Given the description of an element on the screen output the (x, y) to click on. 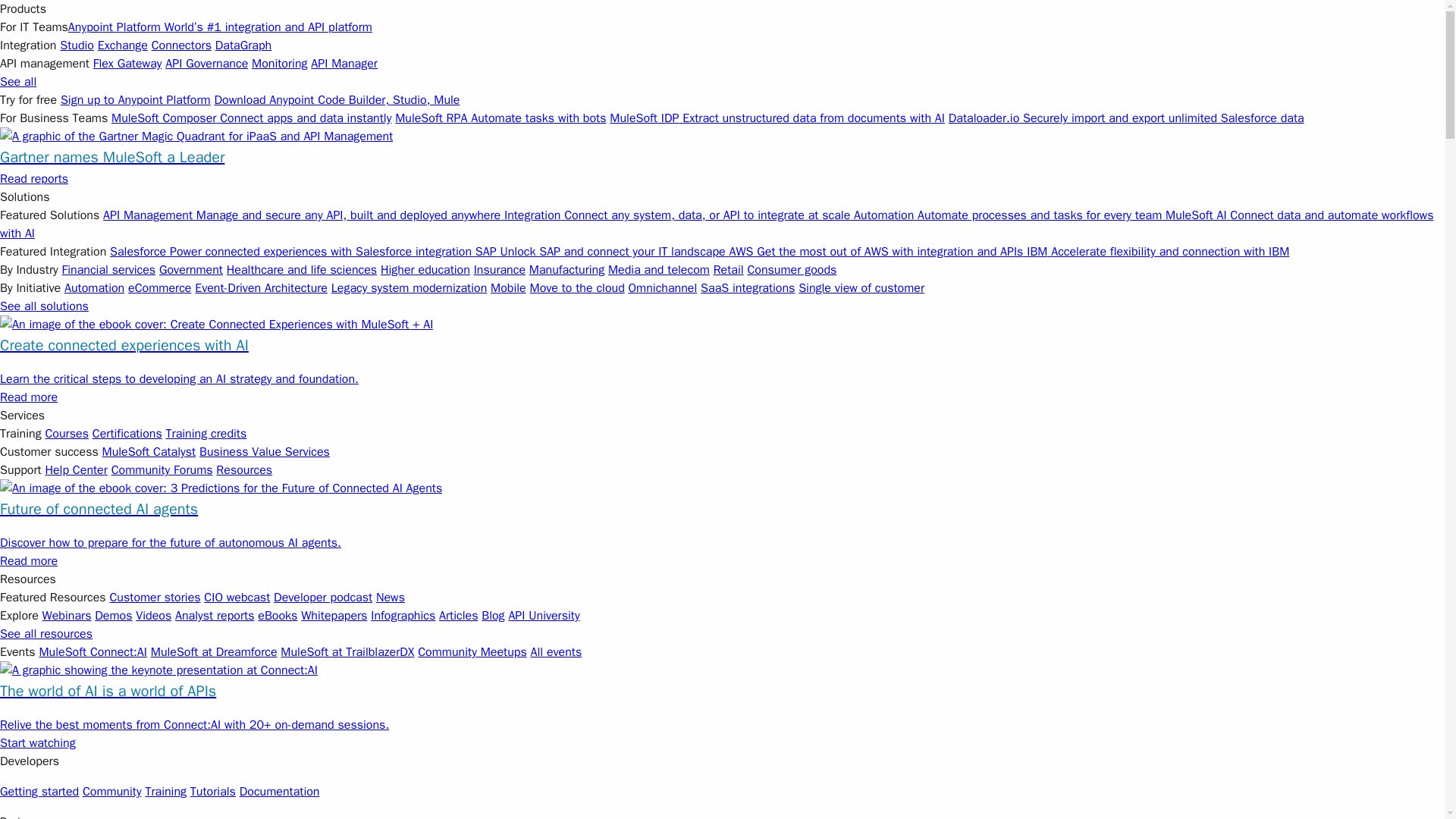
Financial services (108, 269)
MuleSoft RPA Automate tasks with bots (499, 118)
Manufacturing (566, 269)
Monitoring (279, 63)
Retail (728, 269)
Insurance (499, 269)
Studio (76, 45)
Exchange (122, 45)
Sign up to Anypoint Platform (136, 99)
